Given the description of an element on the screen output the (x, y) to click on. 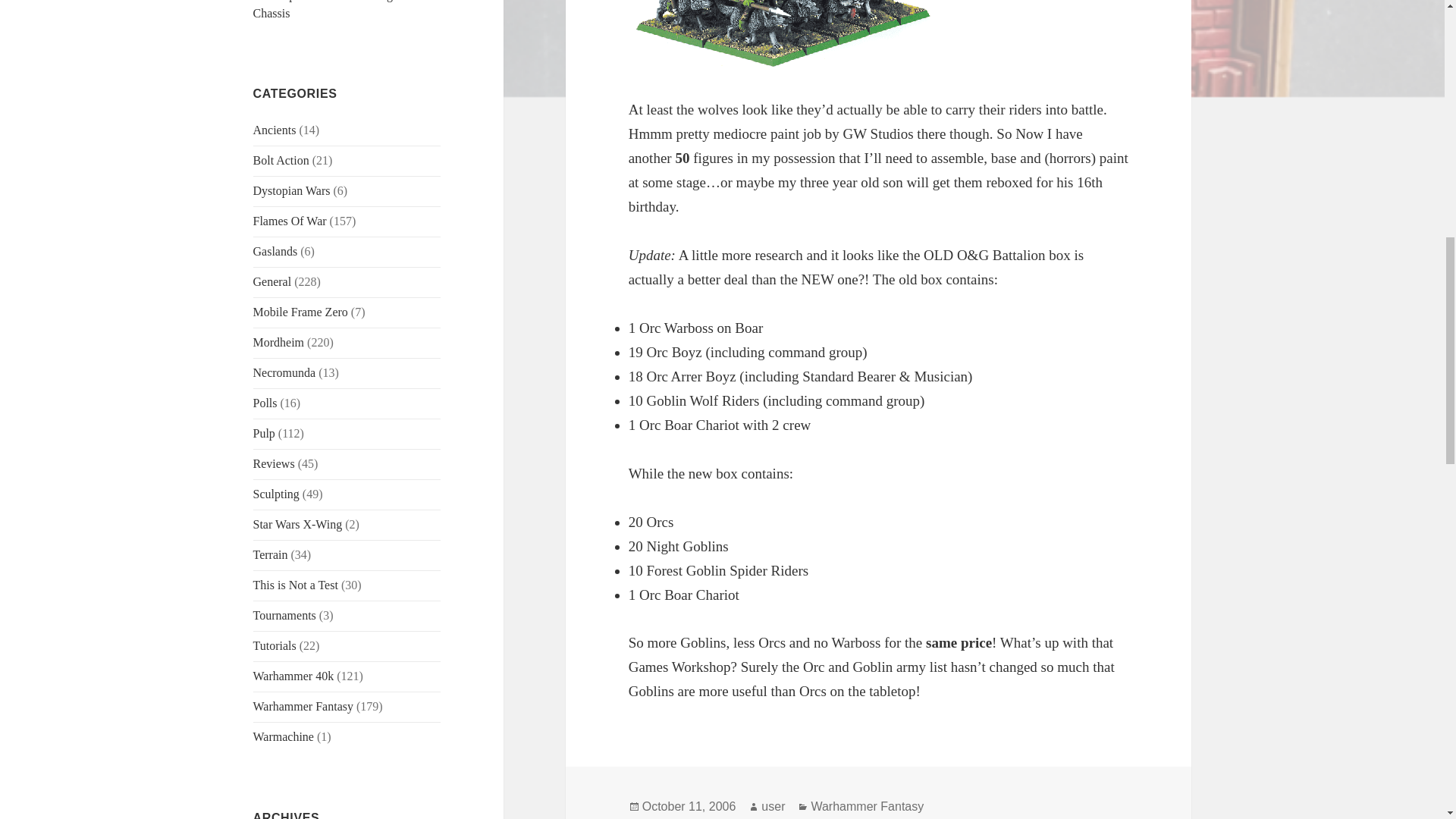
Tabletop Terrain Reviews (274, 463)
Warhammer 40k (293, 675)
Pulp (264, 432)
Warmachine (283, 736)
General blog entries (272, 281)
GW's Fantasy Skirmish tabletop game (278, 341)
Past Tabletop Terrain Polls (265, 402)
Tournaments (284, 615)
Polls (265, 402)
GW's Fantasy tabletop game (303, 706)
